Given the description of an element on the screen output the (x, y) to click on. 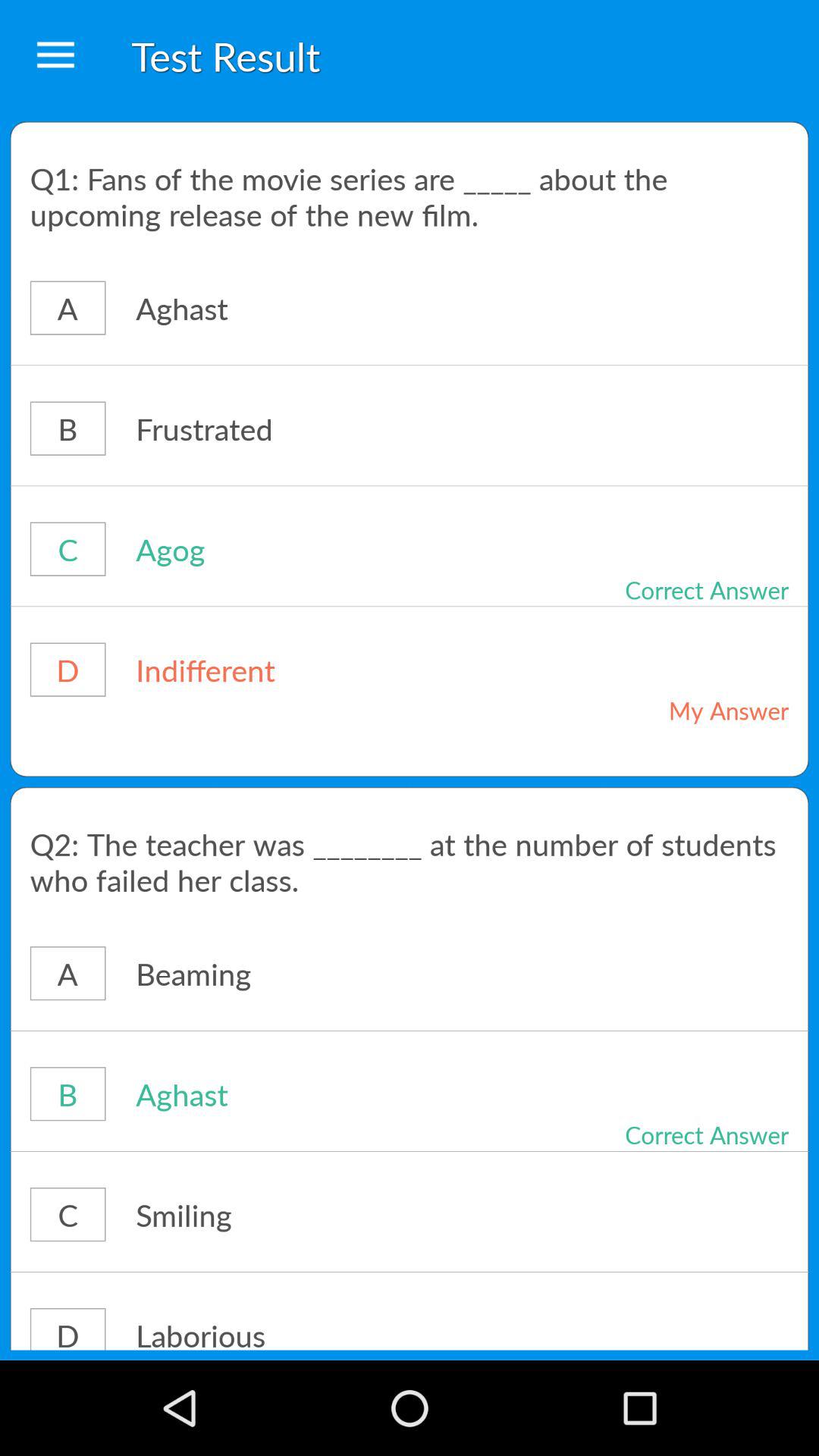
select icon to the right of c item (313, 1214)
